Given the description of an element on the screen output the (x, y) to click on. 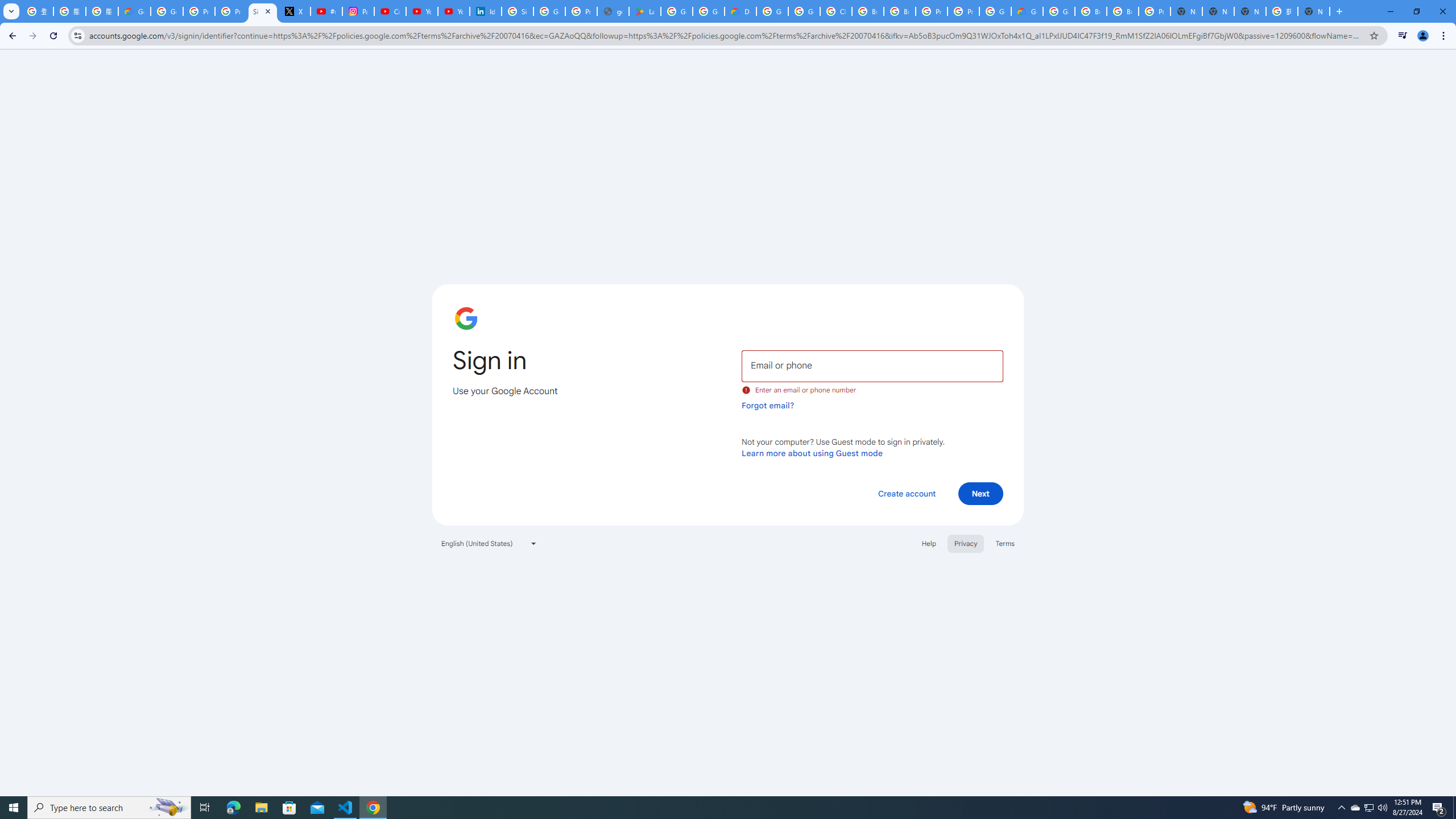
X (294, 11)
Last Shelter: Survival - Apps on Google Play (644, 11)
Google Cloud Privacy Notice (134, 11)
Help (928, 542)
